Given the description of an element on the screen output the (x, y) to click on. 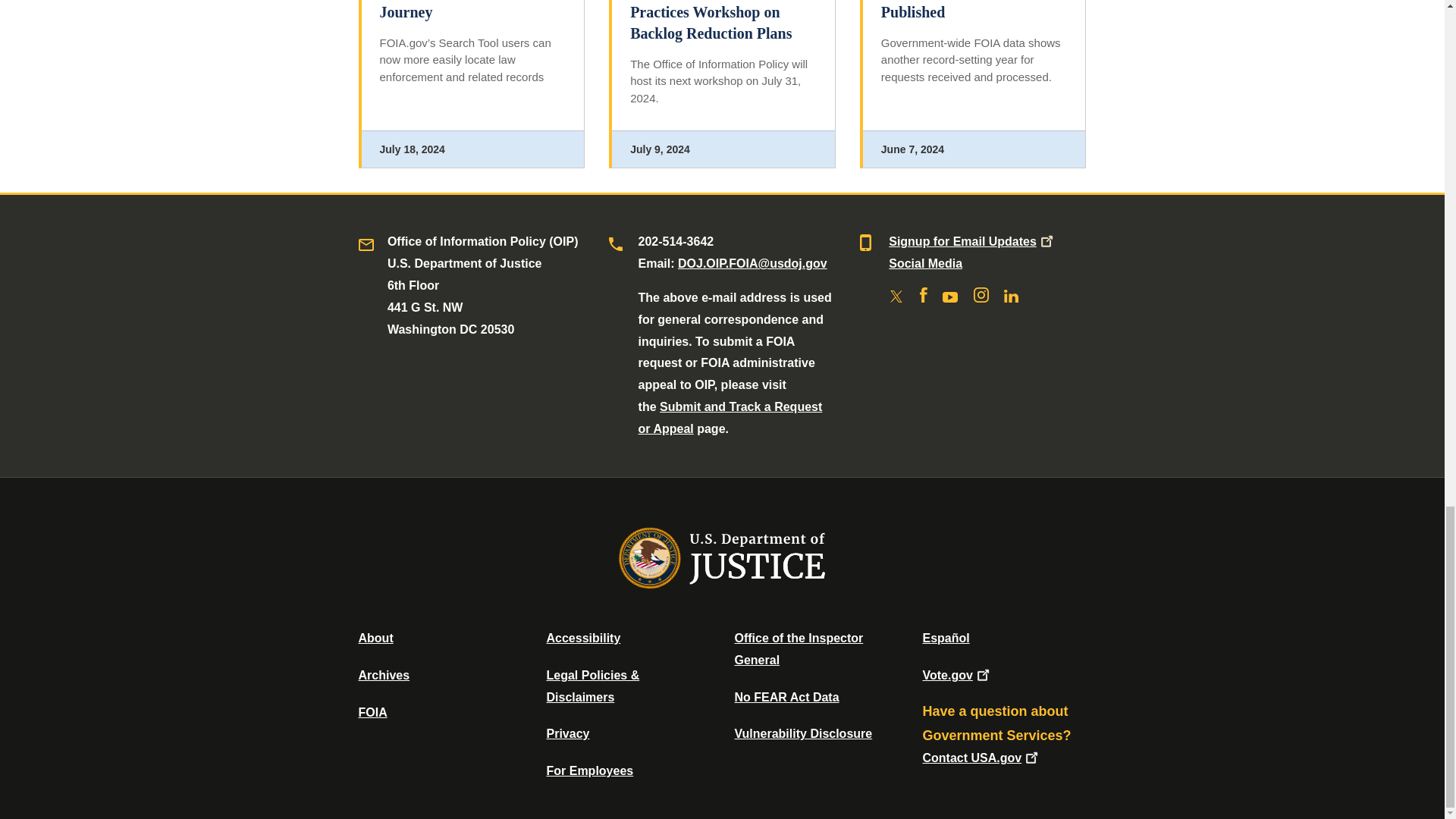
Data Posted Pursuant To The No Fear Act (785, 697)
Legal Policies and Disclaimers (592, 686)
Office of Information Policy (372, 712)
For Employees (589, 770)
About DOJ (375, 637)
Department of Justice Archive (383, 675)
Accessibility Statement (583, 637)
